Given the description of an element on the screen output the (x, y) to click on. 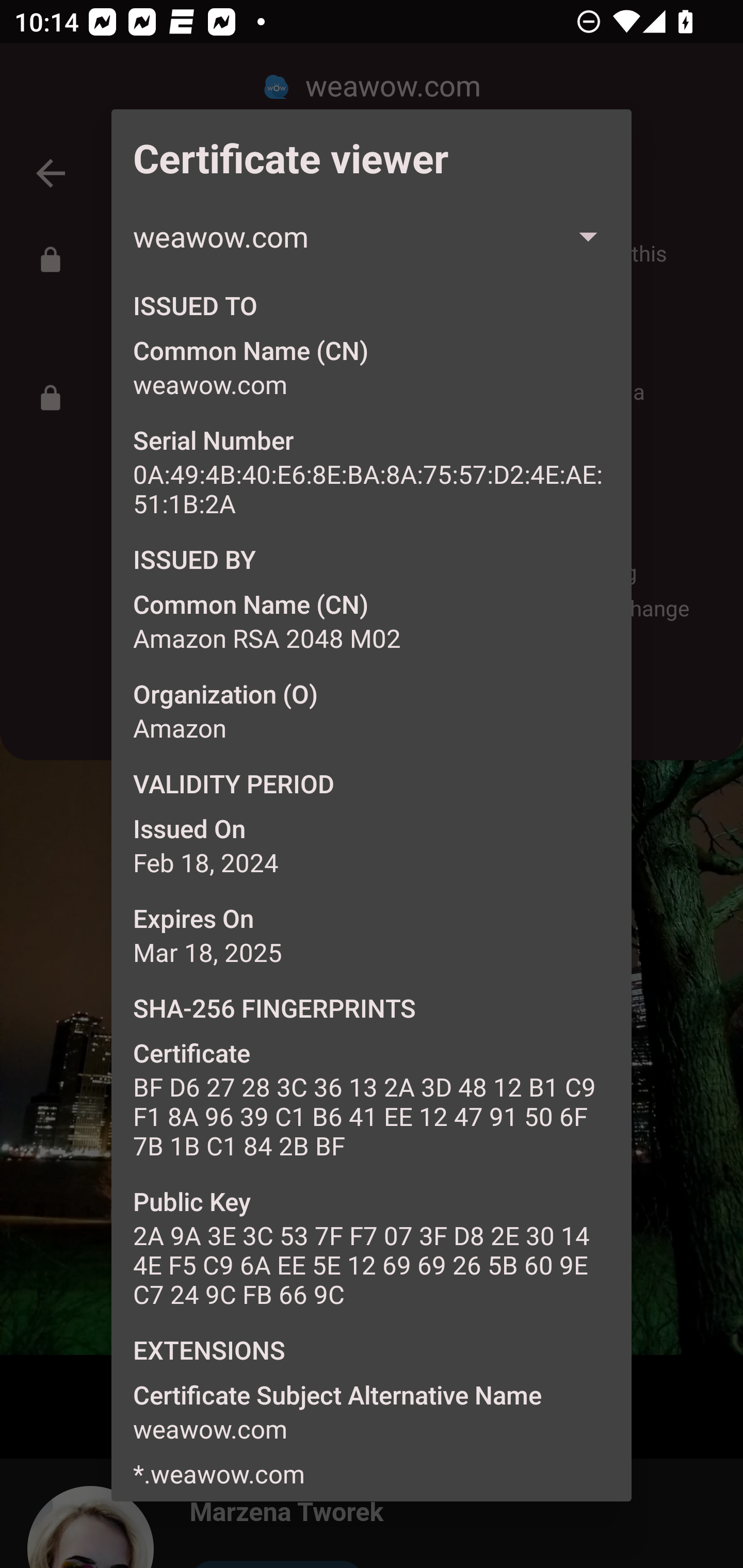
weawow.com (371, 235)
